Given the description of an element on the screen output the (x, y) to click on. 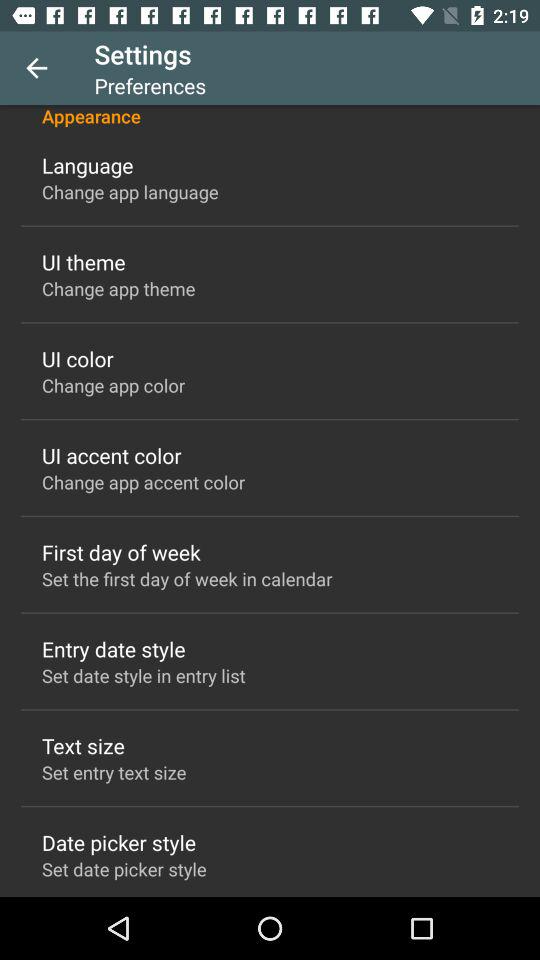
choose the set the first item (187, 578)
